Given the description of an element on the screen output the (x, y) to click on. 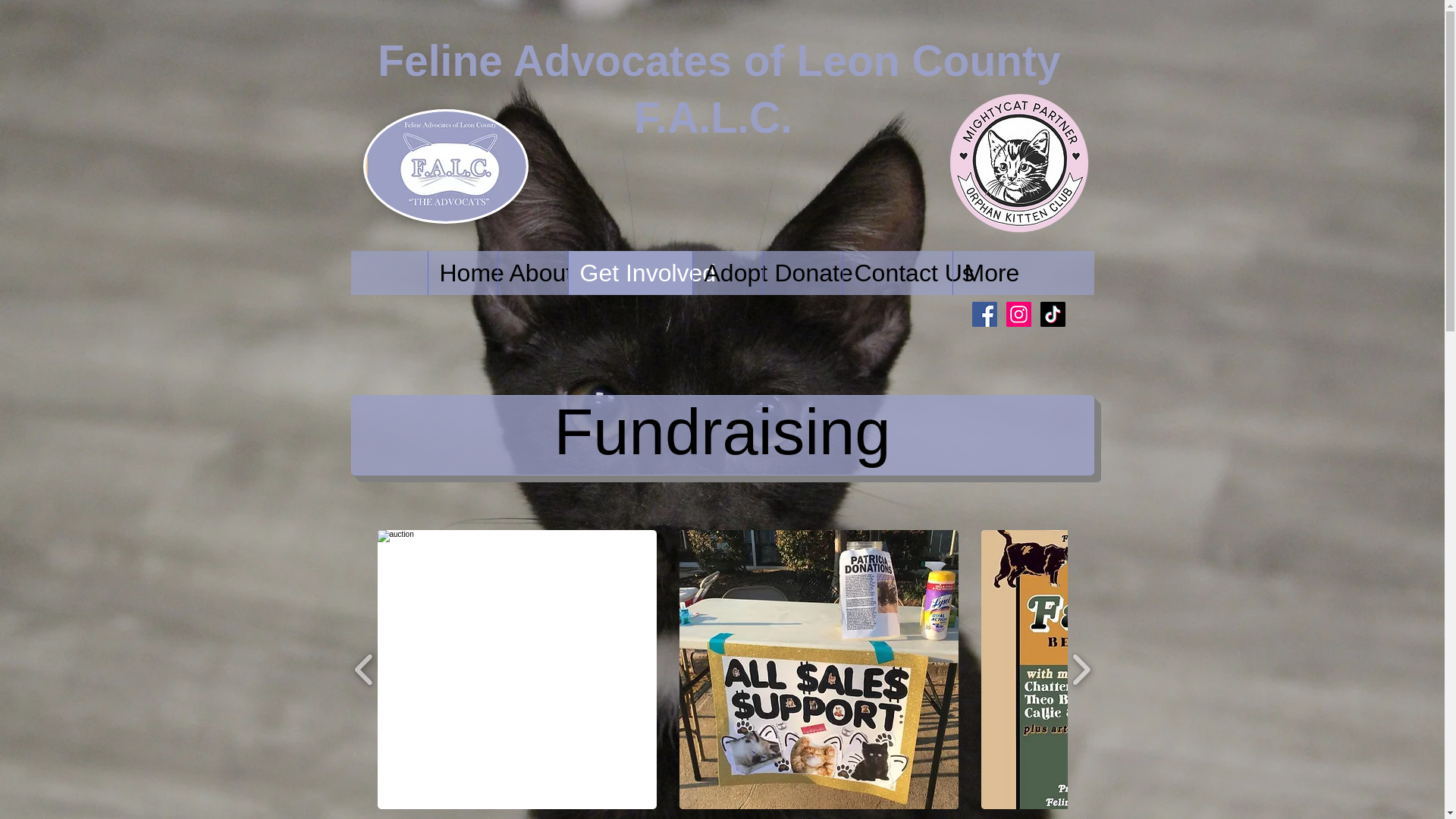
Get Involved (629, 272)
Donate (802, 272)
Adopt (726, 272)
About (532, 272)
Home (462, 272)
Contact Us (896, 272)
okc logo.png (1019, 161)
